Given the description of an element on the screen output the (x, y) to click on. 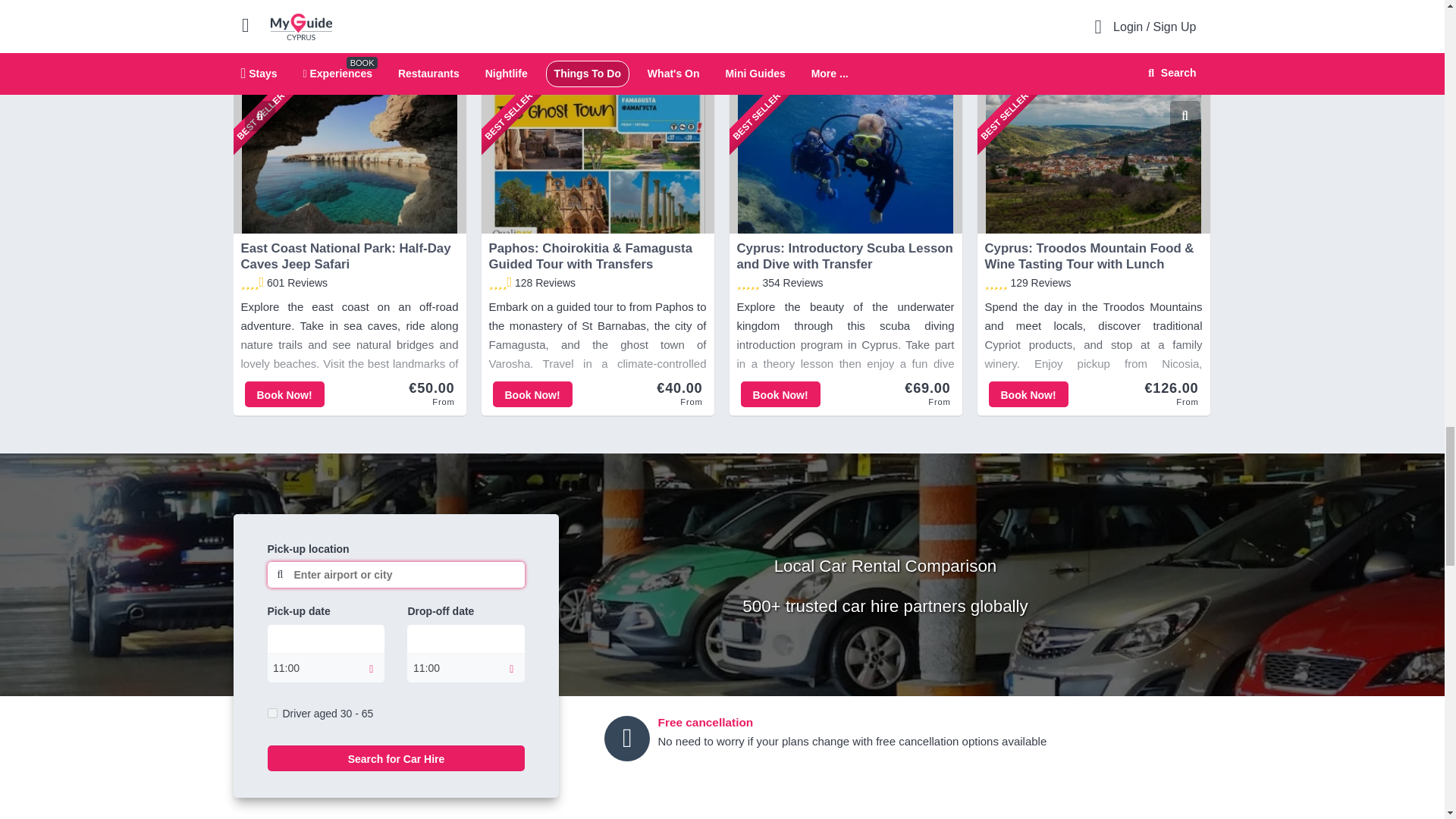
on (271, 713)
